Given the description of an element on the screen output the (x, y) to click on. 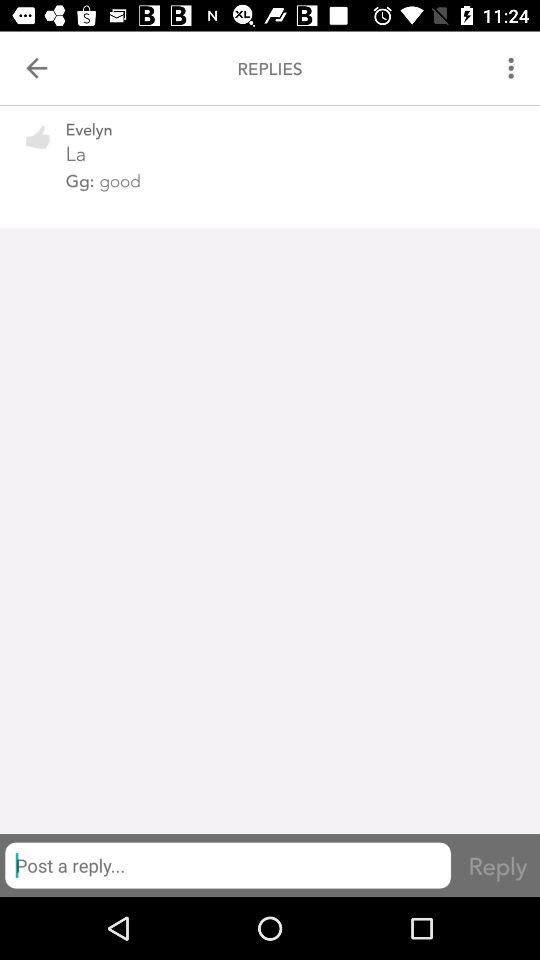
enter reply text (227, 865)
